Given the description of an element on the screen output the (x, y) to click on. 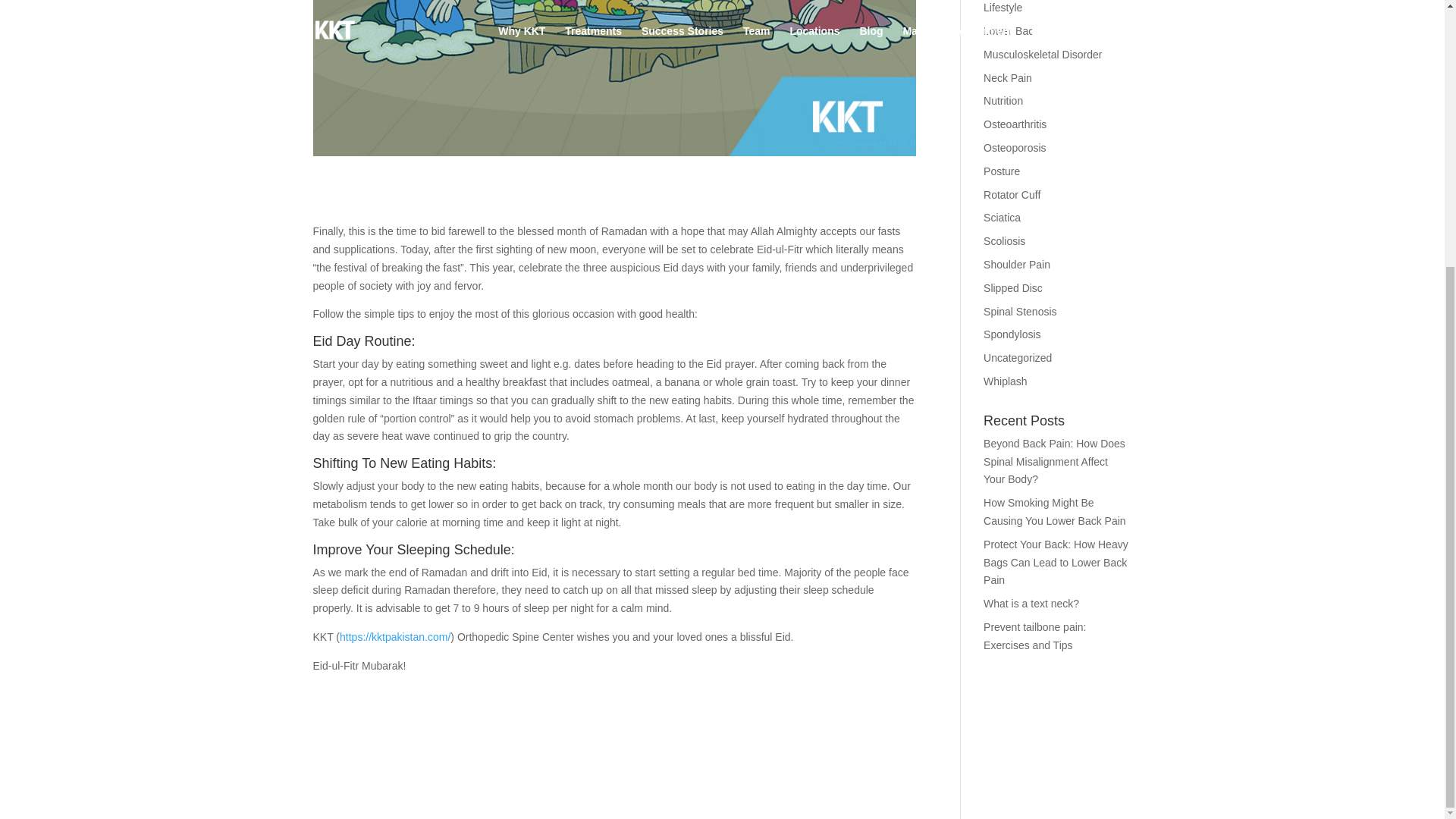
Musculoskeletal Disorder (1043, 54)
Lifestyle (1003, 7)
Lower Back Pain (1023, 30)
Neck Pain (1008, 78)
Nutrition (1003, 101)
